Given the description of an element on the screen output the (x, y) to click on. 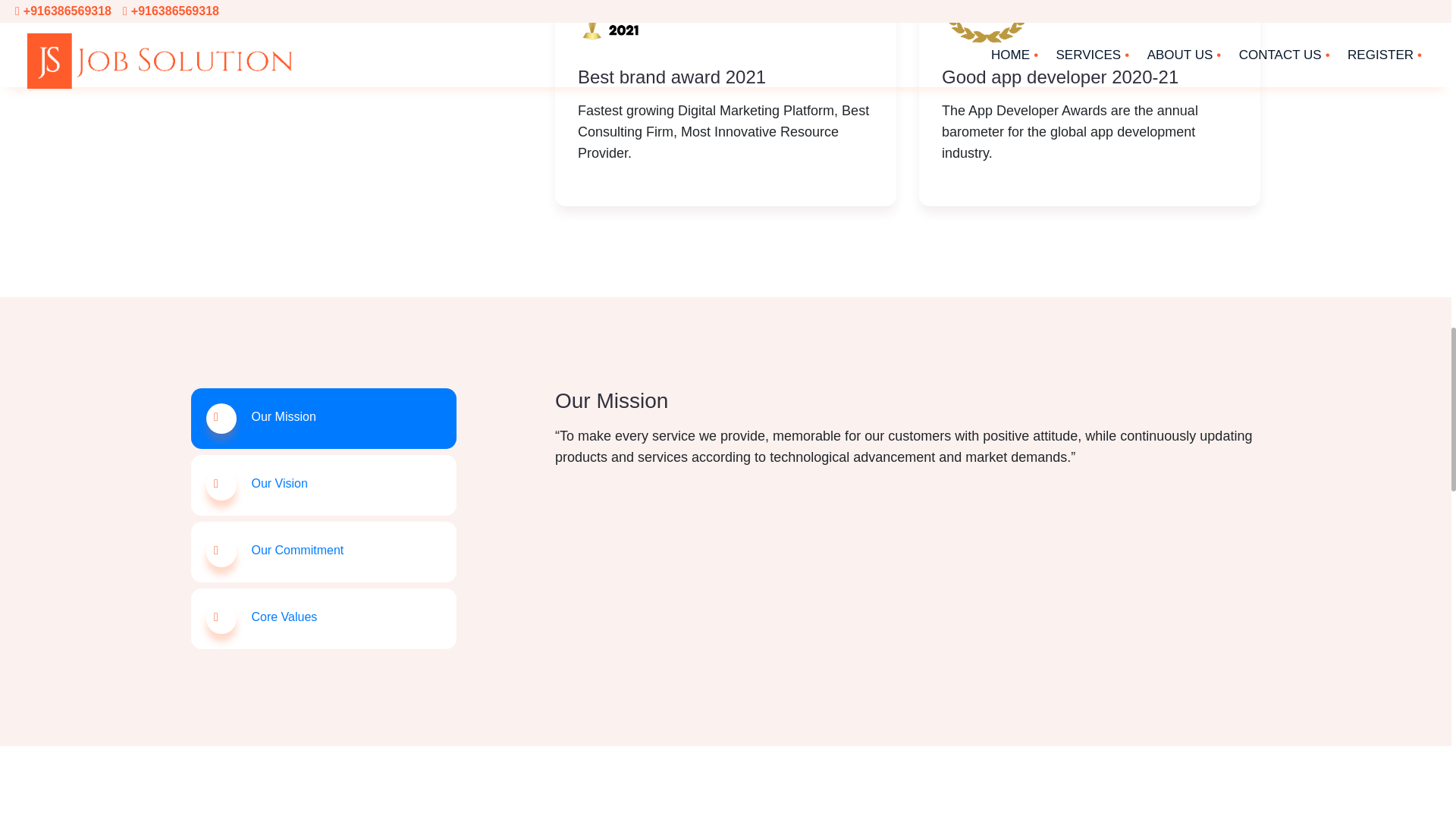
Our Vision (323, 485)
Core Values (323, 618)
Our Mission (323, 418)
Our Commitment (323, 551)
